Given the description of an element on the screen output the (x, y) to click on. 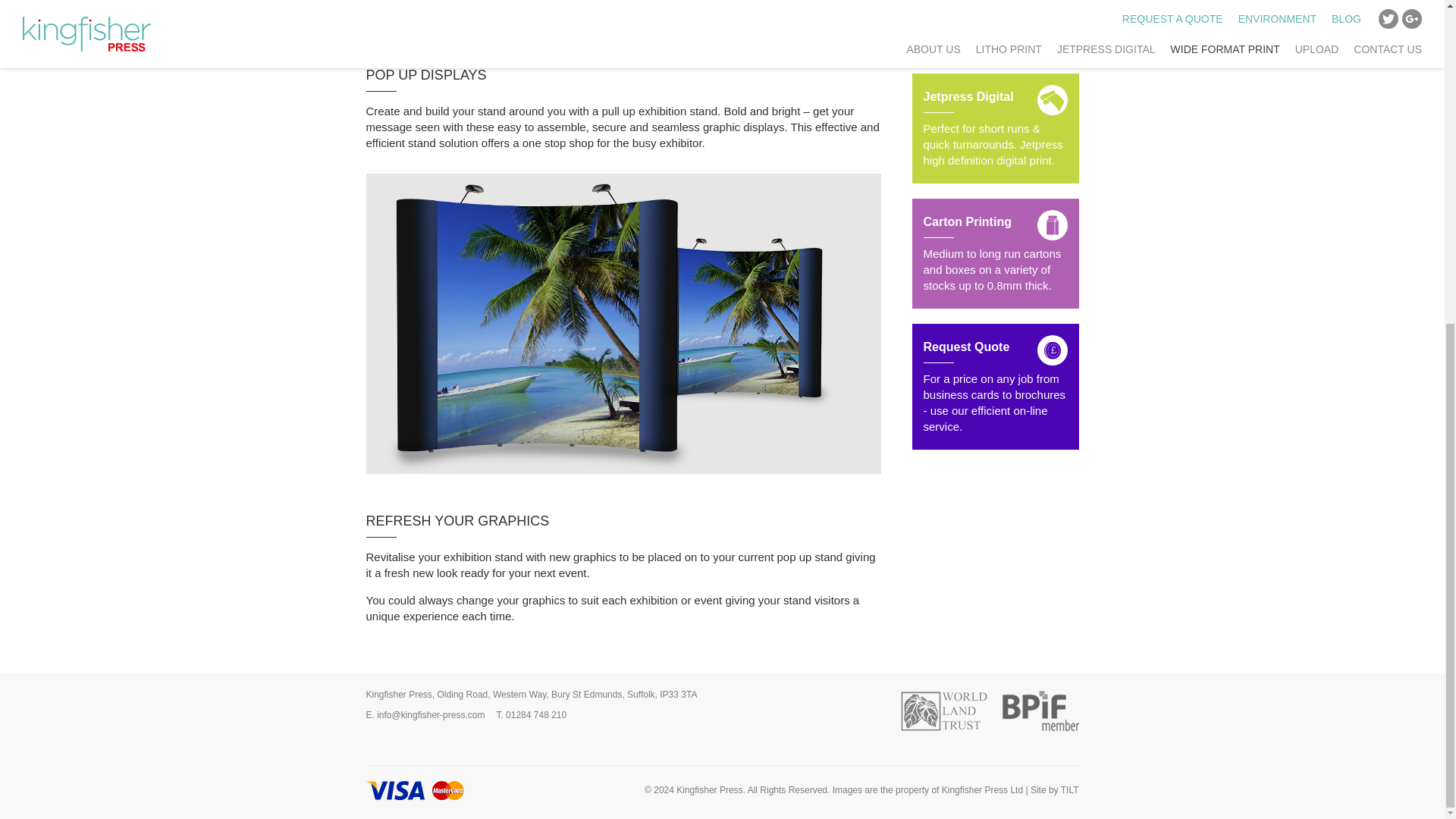
TILT Web Design (1069, 789)
